Given the description of an element on the screen output the (x, y) to click on. 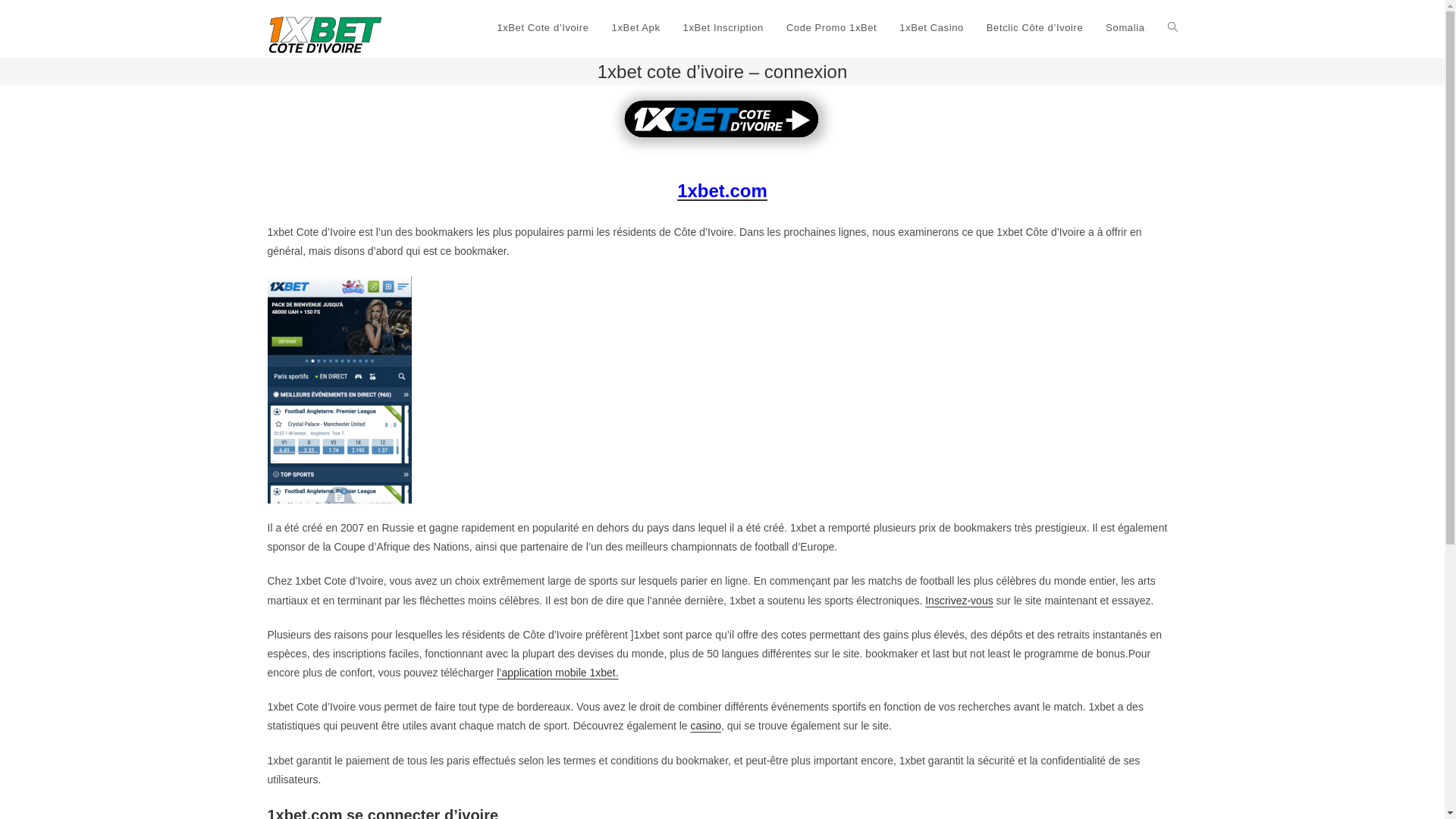
1xBet Apk Element type: text (635, 28)
1xbet.com Element type: text (722, 193)
1xBet Casino Element type: text (931, 28)
Somalia Element type: text (1124, 28)
Inscrivez-vous Element type: text (958, 600)
Code Promo 1xBet Element type: text (831, 28)
1xBet Inscription Element type: text (723, 28)
casino Element type: text (705, 725)
